Given the description of an element on the screen output the (x, y) to click on. 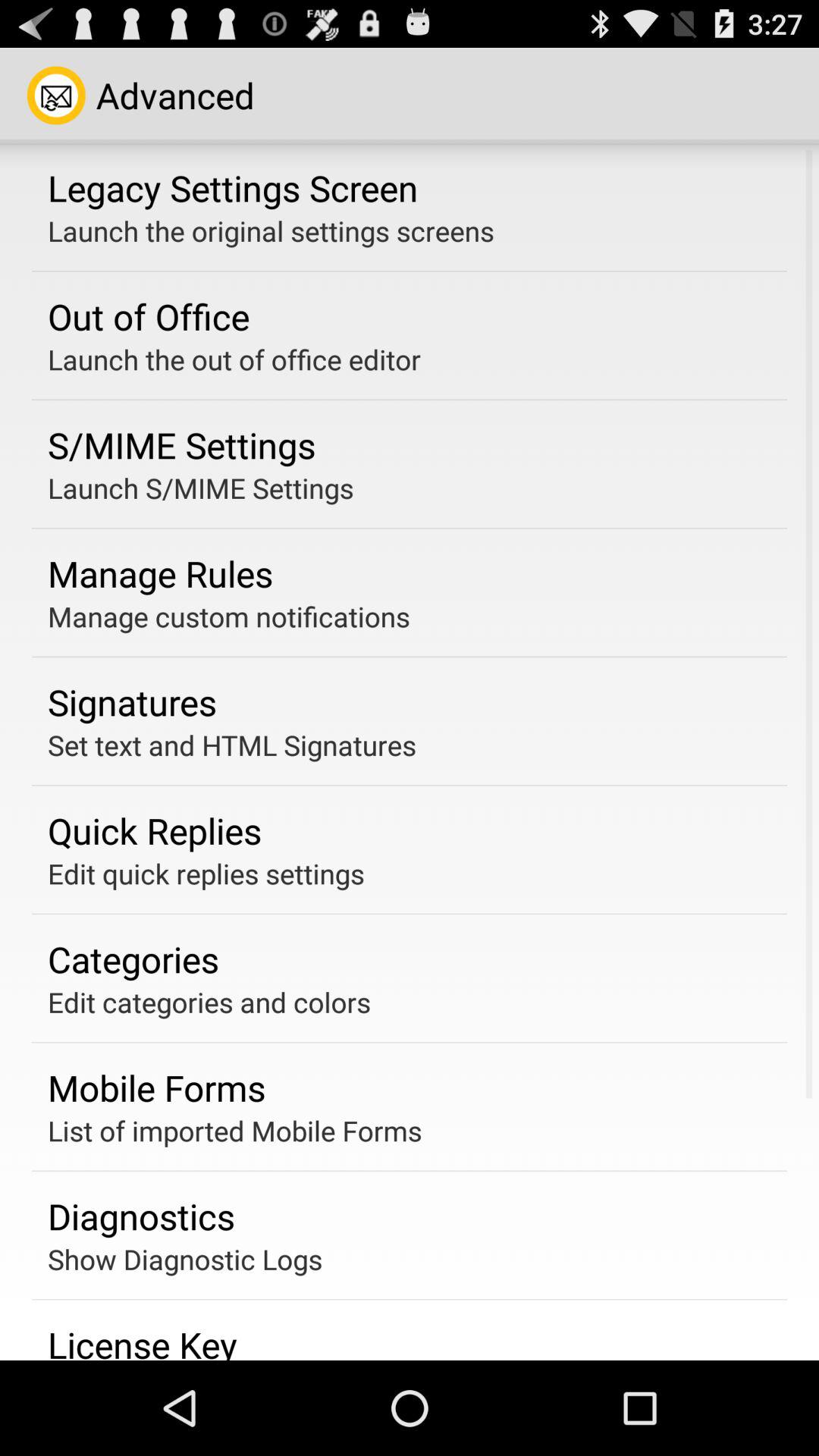
select the manage rules (160, 573)
